Given the description of an element on the screen output the (x, y) to click on. 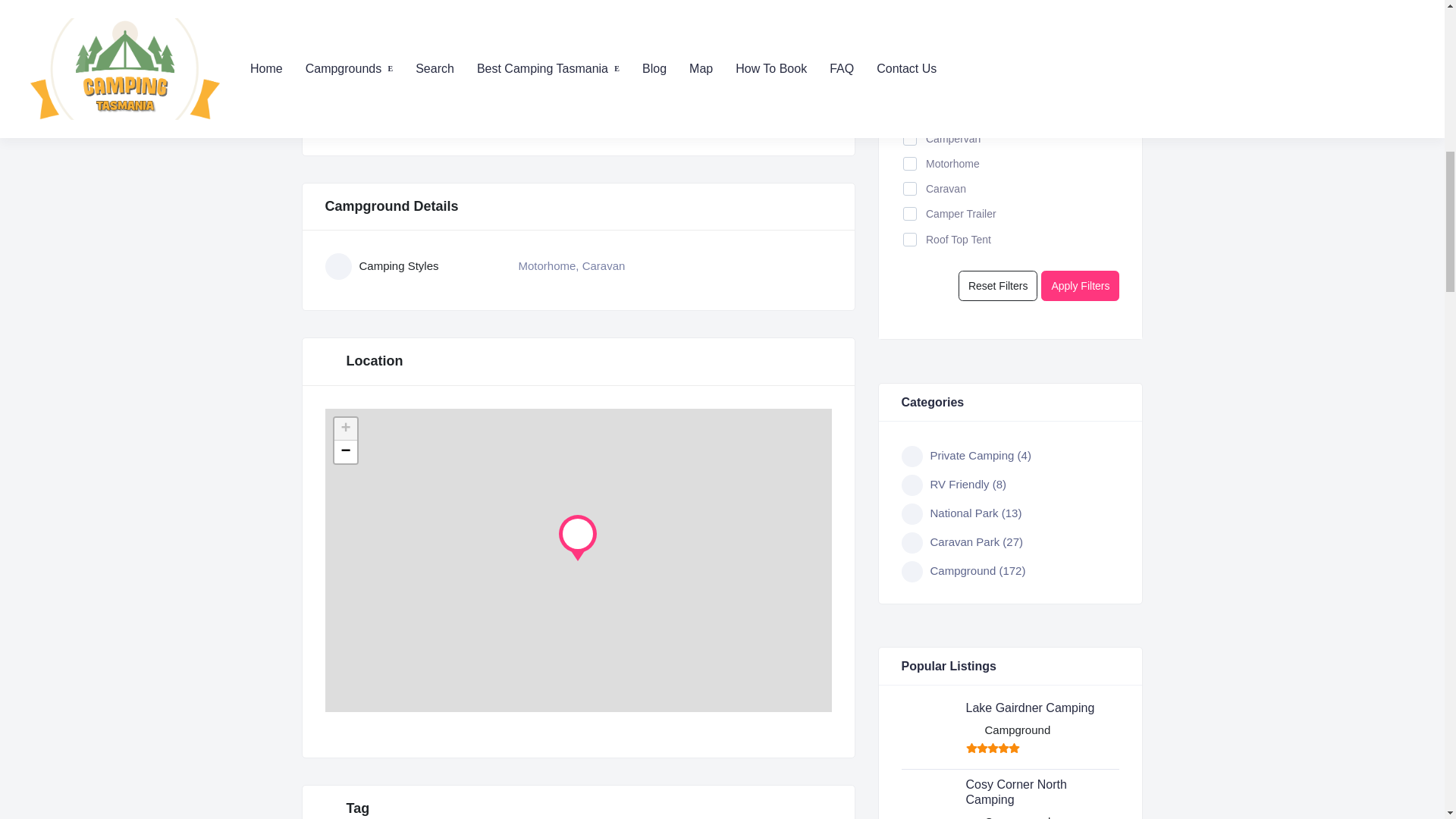
Zoom out (344, 451)
Zoom in (344, 428)
